Given the description of an element on the screen output the (x, y) to click on. 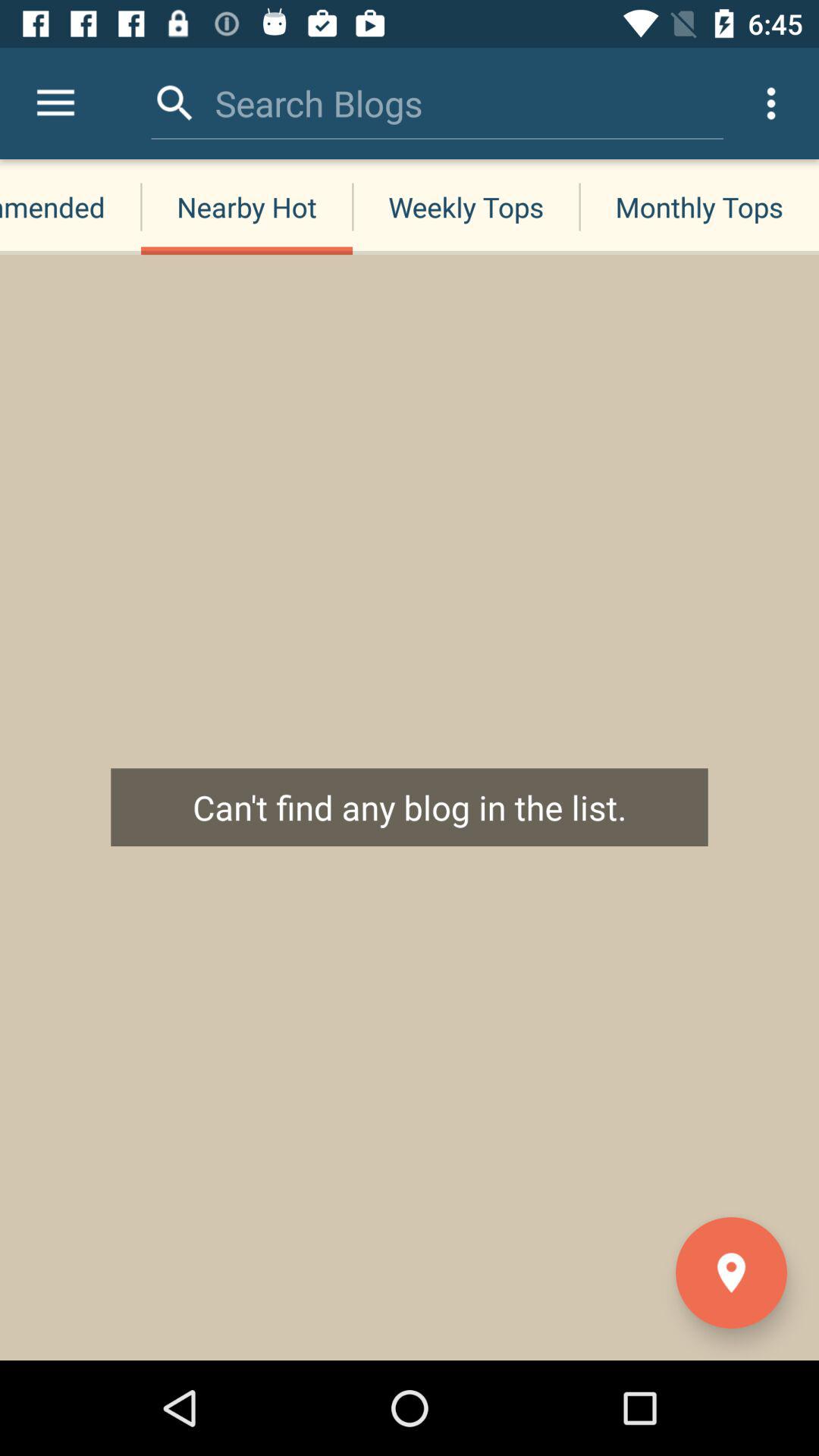
launch icon to the left of the weekly tops (246, 206)
